Given the description of an element on the screen output the (x, y) to click on. 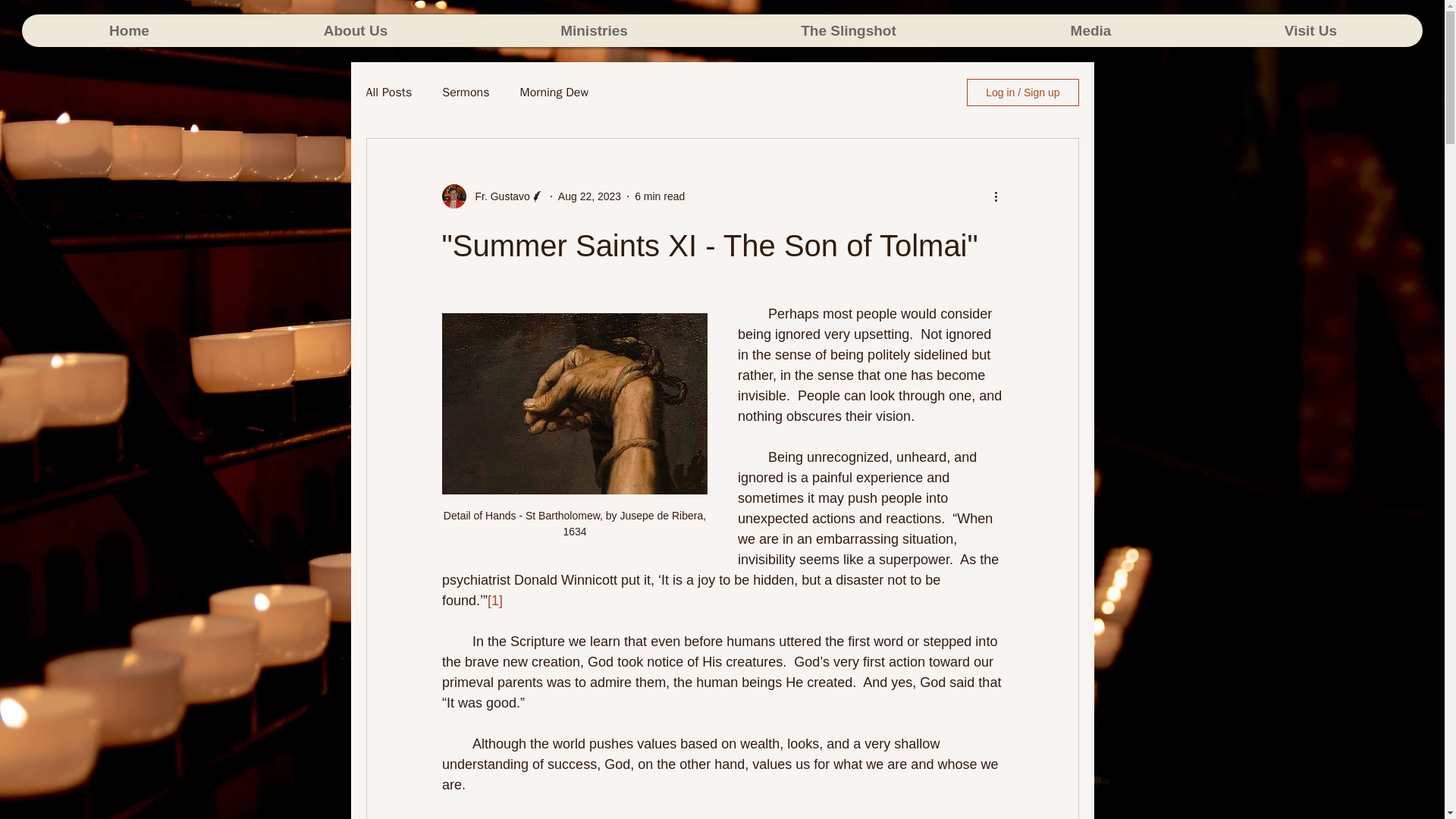
The Slingshot (847, 30)
Fr. Gustavo (497, 195)
Sermons (465, 92)
About Us (354, 30)
Visit Us (1310, 30)
All Posts (388, 92)
Morning Dew (553, 92)
Home (128, 30)
6 min read (659, 195)
Media (1090, 30)
Ministries (593, 30)
Aug 22, 2023 (589, 195)
